Given the description of an element on the screen output the (x, y) to click on. 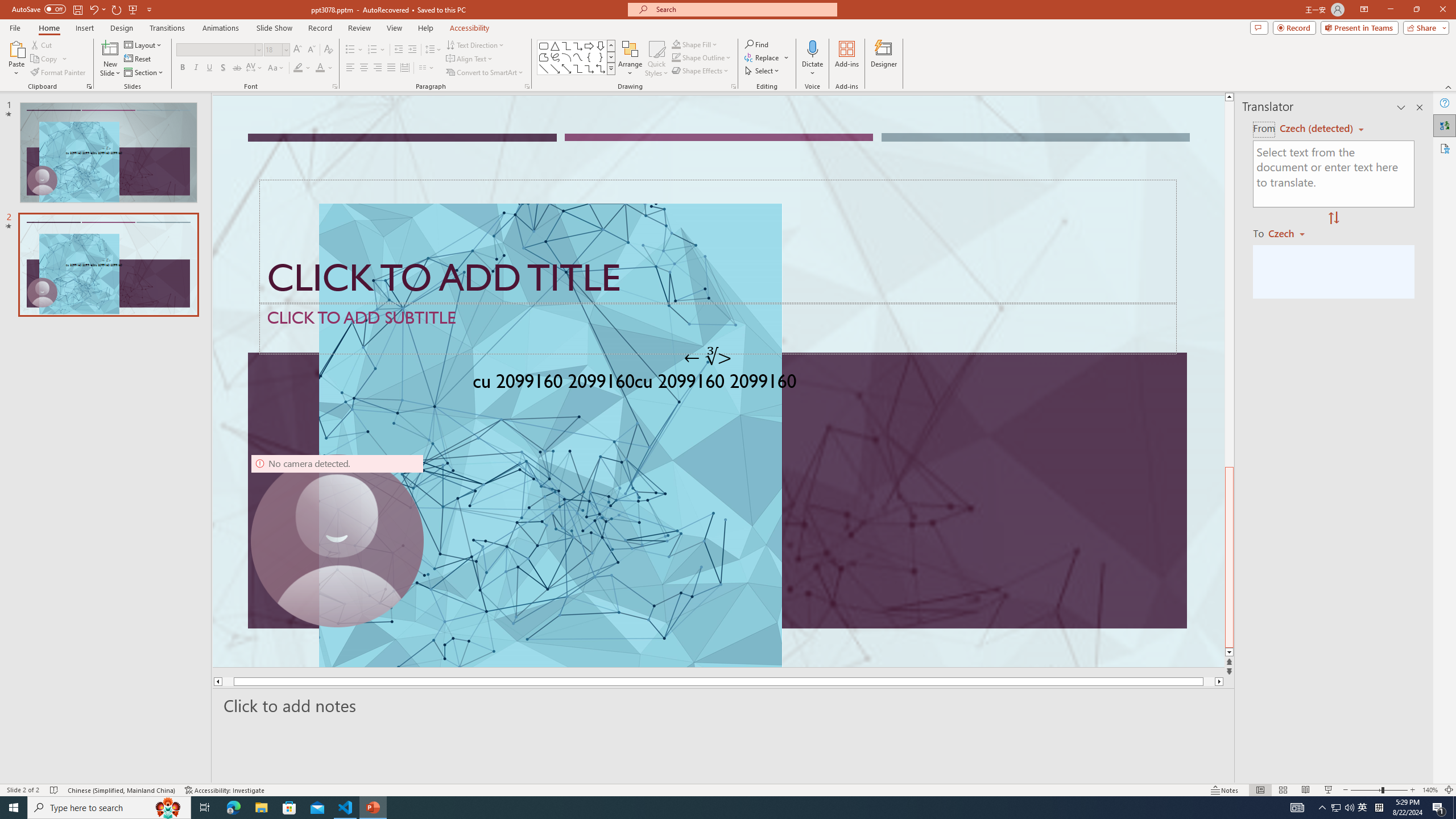
Swap "from" and "to" languages. (1333, 218)
